Given the description of an element on the screen output the (x, y) to click on. 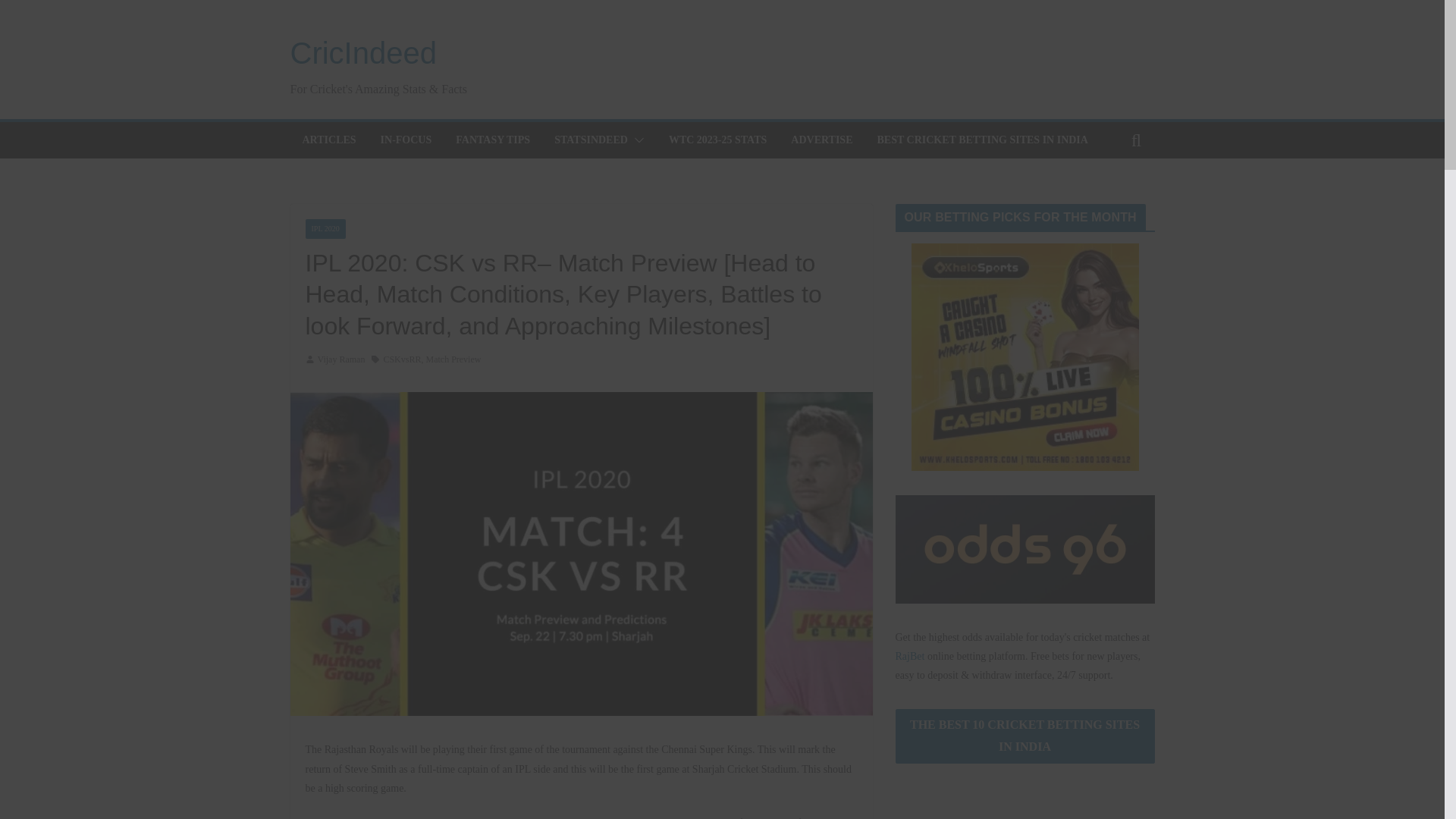
IPL 2020 (324, 229)
Vijay Raman (341, 360)
Match Preview (452, 360)
CricIndeed (362, 52)
STATSINDEED (590, 139)
FANTASY TIPS (492, 139)
ARTICLES (328, 139)
Vijay Raman (341, 360)
IN-FOCUS (406, 139)
ADVERTISE (820, 139)
